Given the description of an element on the screen output the (x, y) to click on. 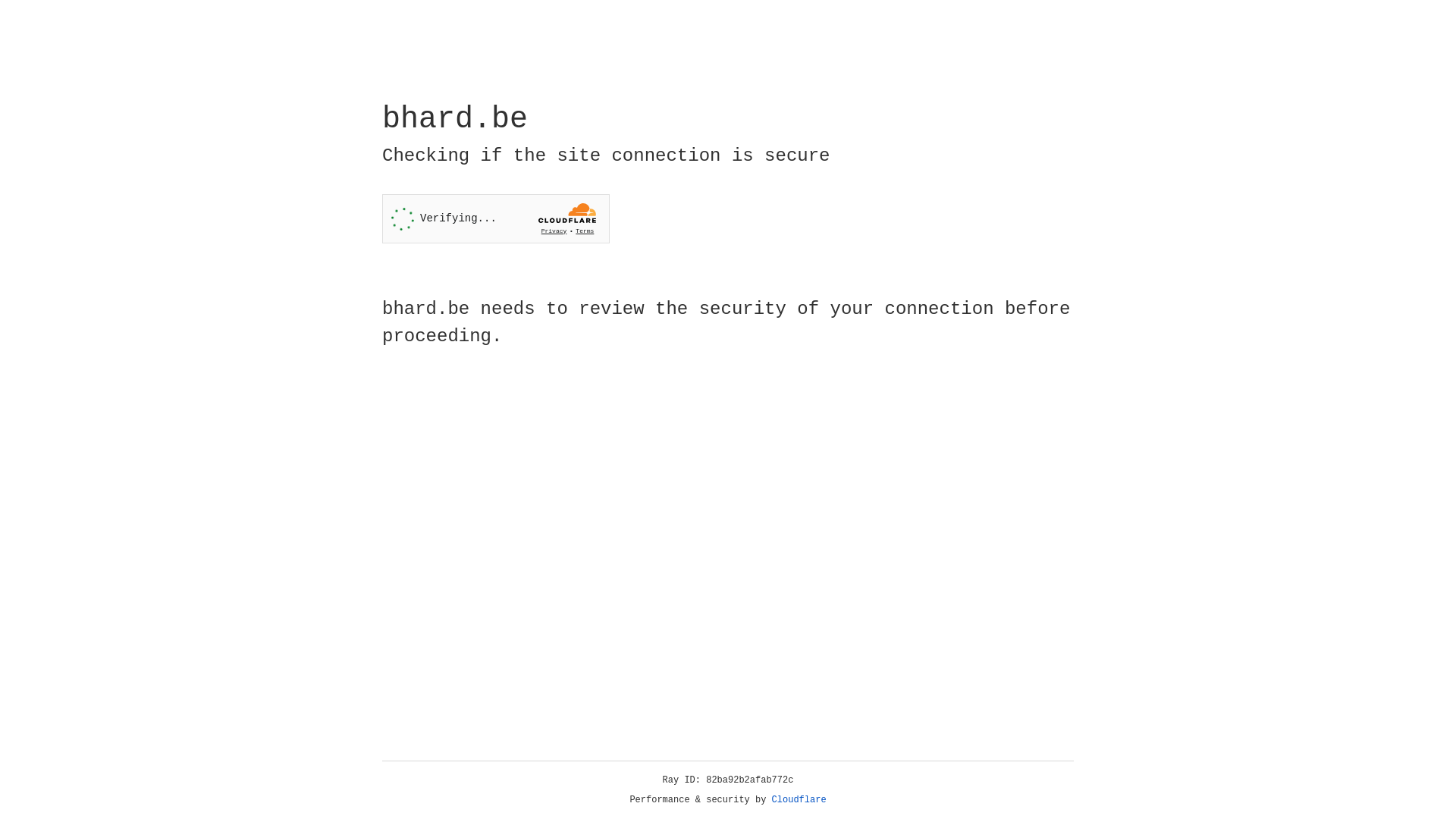
Cloudflare Element type: text (798, 799)
Widget containing a Cloudflare security challenge Element type: hover (495, 218)
